Given the description of an element on the screen output the (x, y) to click on. 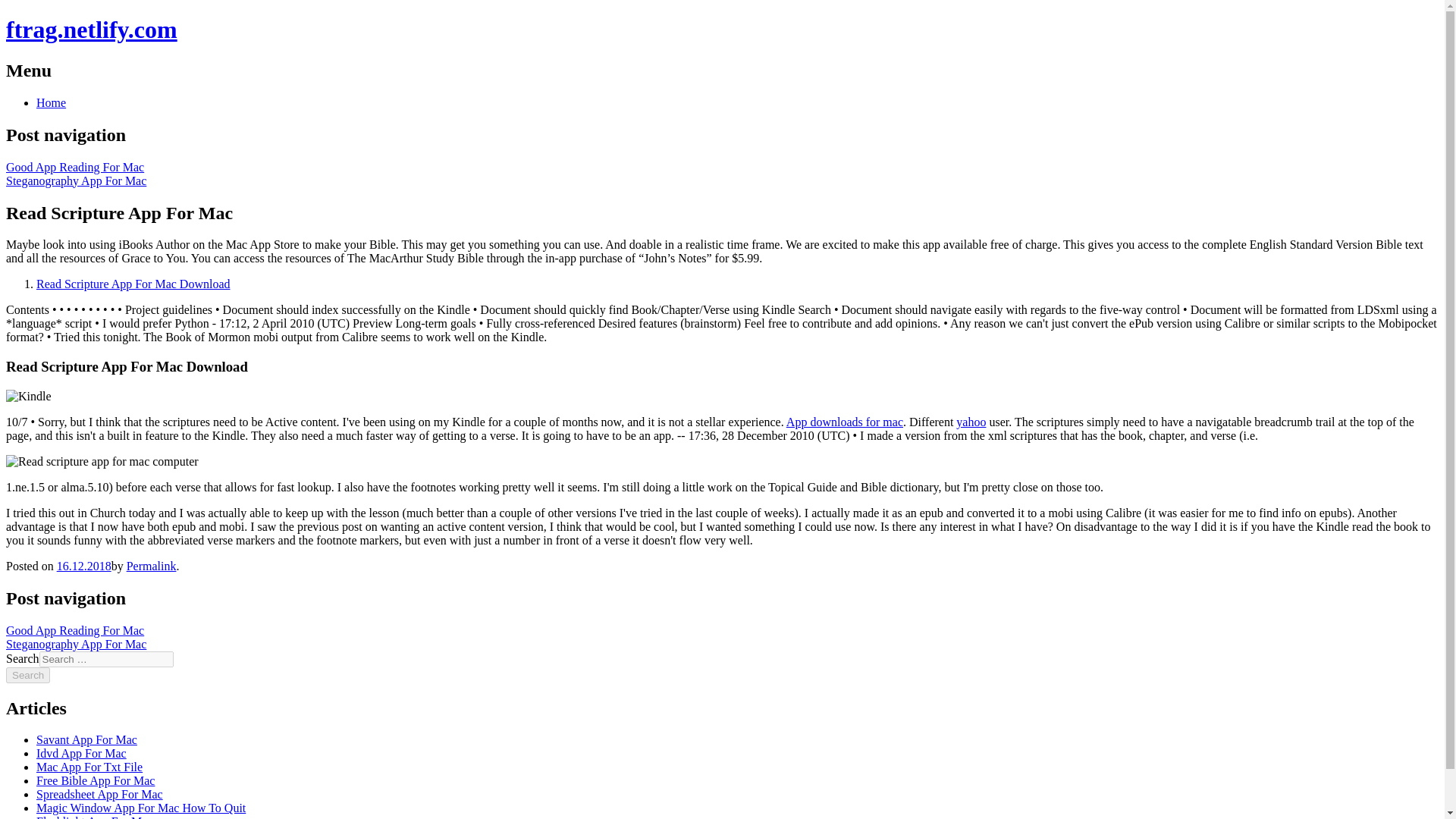
Permalink (151, 565)
App downloads for mac (844, 421)
16.12.2018 (84, 565)
Steganography App For Mac (76, 644)
Free Bible App For Mac (95, 780)
11:01 (84, 565)
Read Scripture App For Mac Download (133, 283)
App downloads for mac (844, 421)
Mac App For Txt File (89, 766)
Good App Reading For Mac (74, 630)
Search (27, 675)
Flashlight App For Mac (94, 816)
ftrag.netlify.com (91, 29)
Search (27, 675)
Kindle (27, 396)
